Given the description of an element on the screen output the (x, y) to click on. 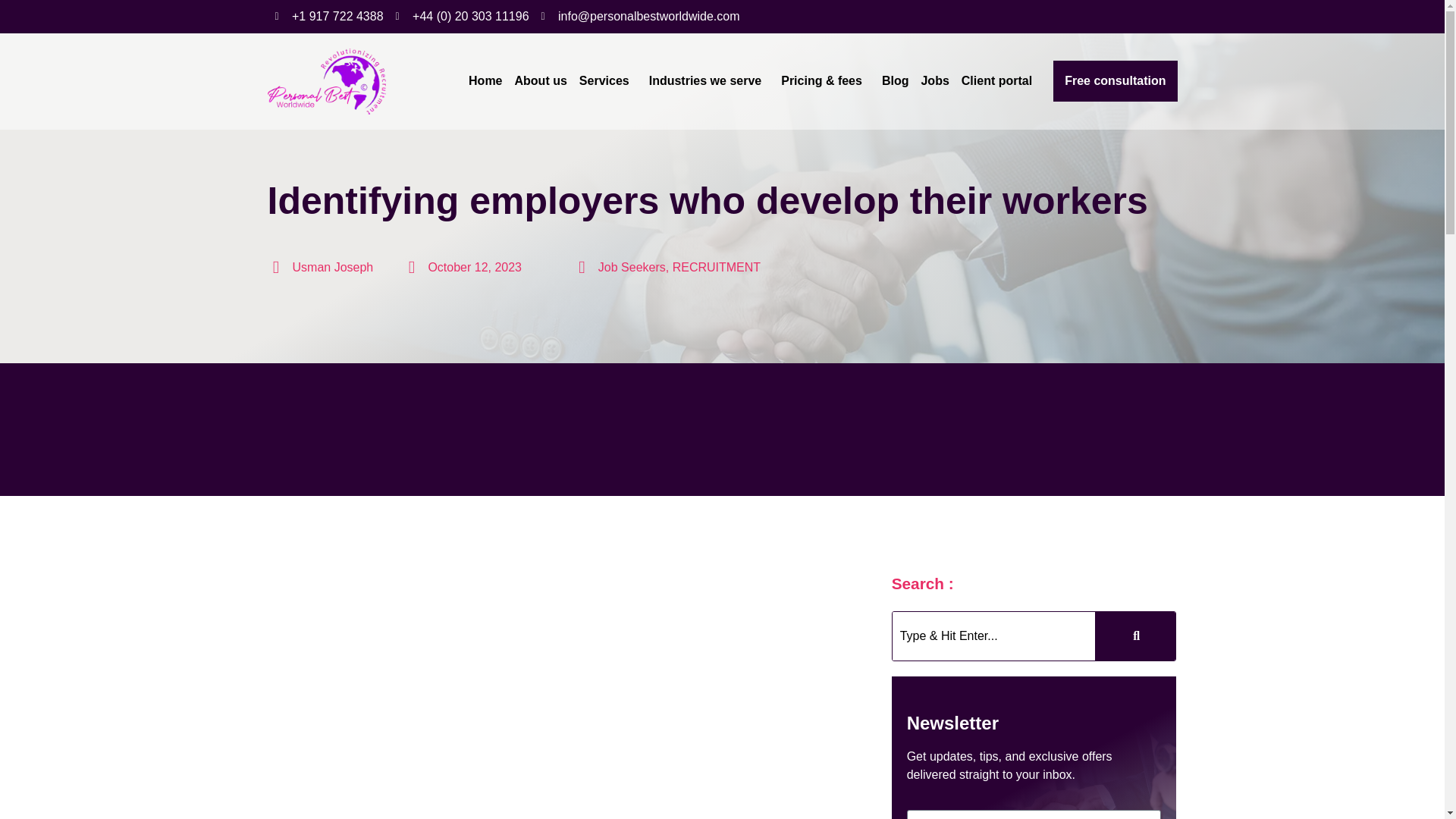
Jobs (934, 80)
Free consultation (1114, 80)
Client portal (1000, 80)
Search (994, 635)
Blog (895, 80)
Industries we serve (709, 80)
Services (608, 80)
Home (485, 80)
About us (540, 80)
